Given the description of an element on the screen output the (x, y) to click on. 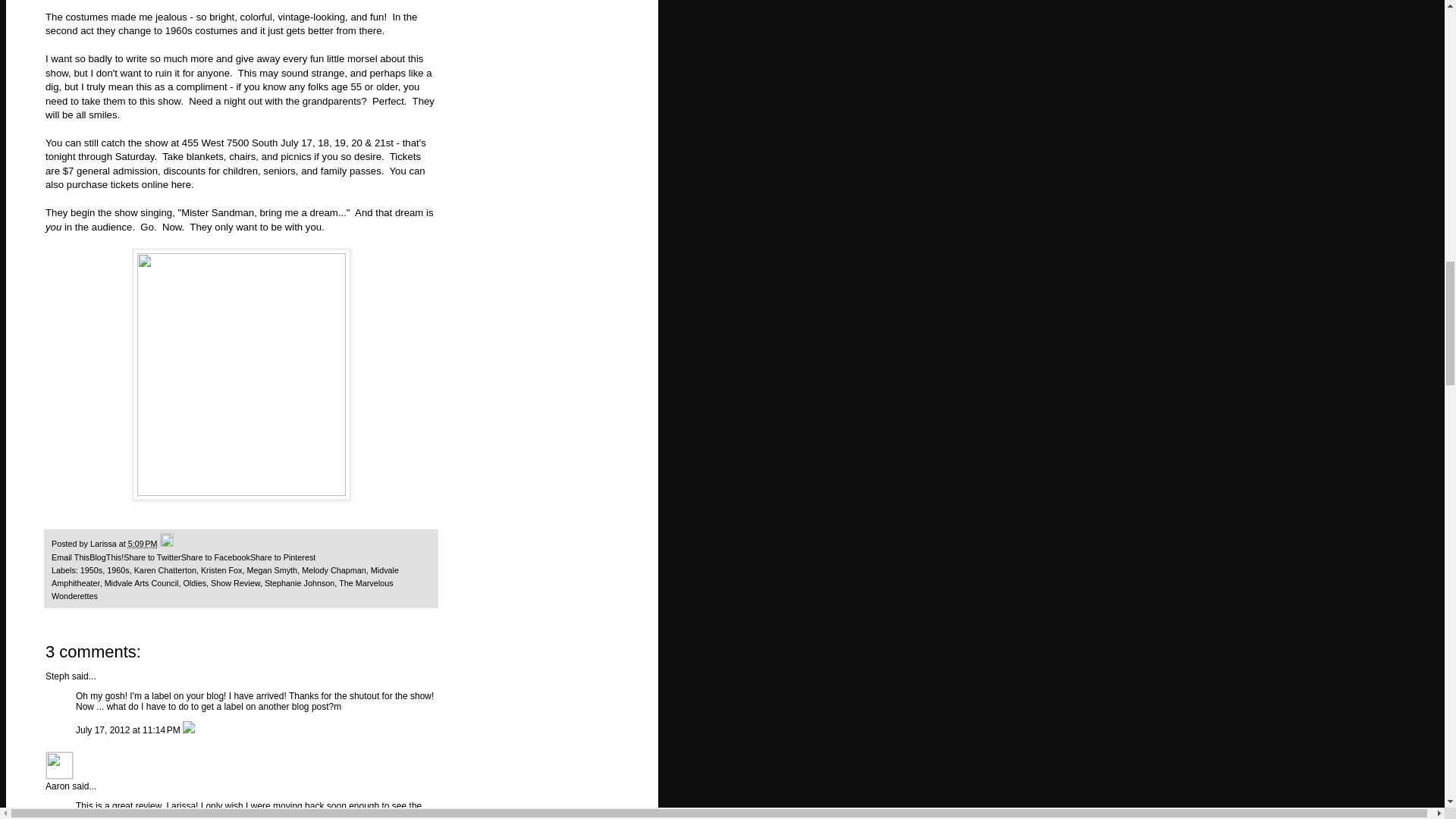
BlogThis! (105, 556)
Karen Chatterton (164, 569)
BlogThis! (105, 556)
Email This (69, 556)
Oldies (194, 583)
author profile (104, 542)
Midvale Arts Council (141, 583)
Share to Twitter (151, 556)
Delete Comment (189, 729)
Edit Post (166, 542)
Share to Facebook (215, 556)
Show Review (235, 583)
Share to Pinterest (282, 556)
Email This (69, 556)
